Given the description of an element on the screen output the (x, y) to click on. 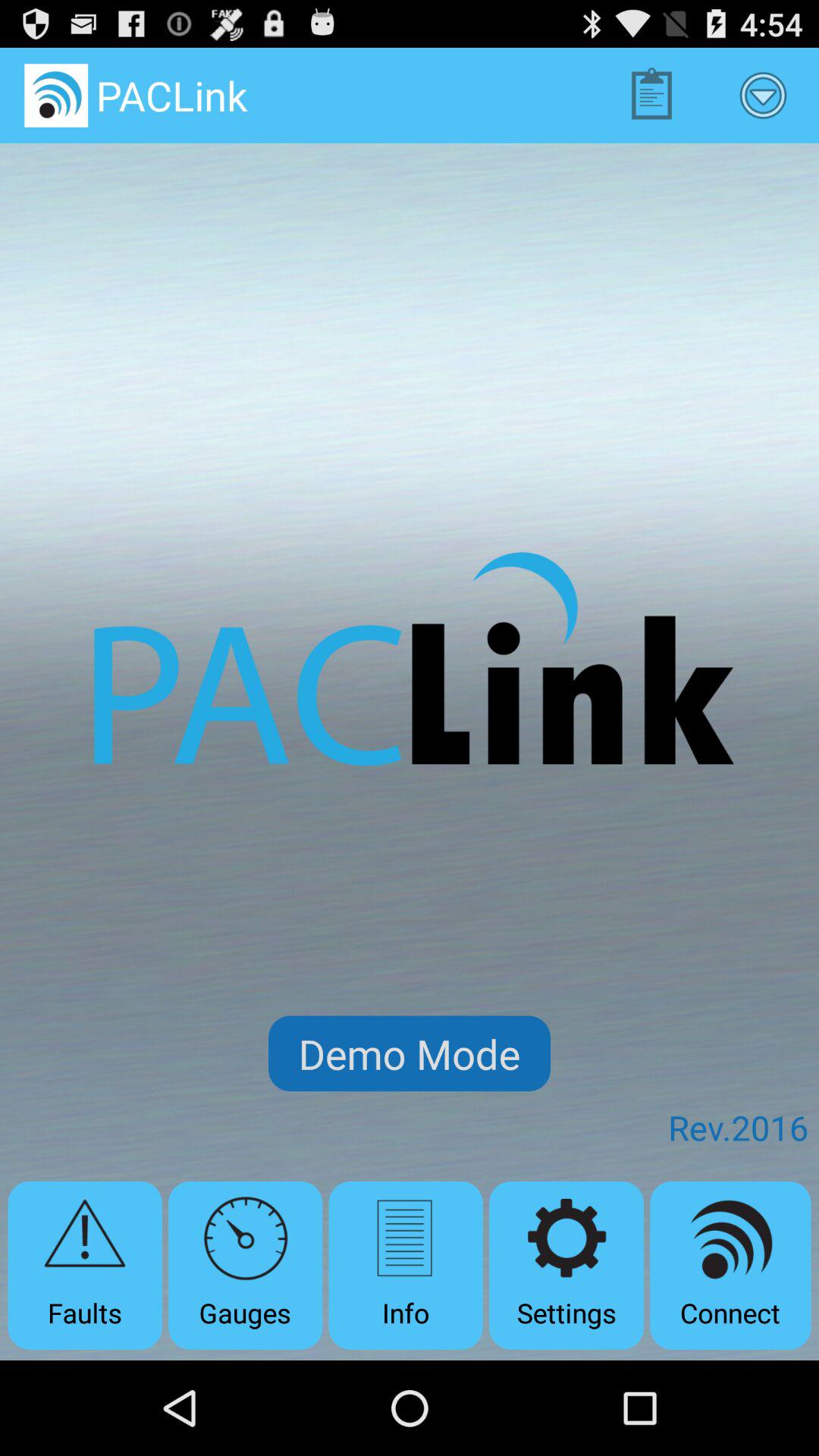
scroll to faults button (84, 1265)
